Given the description of an element on the screen output the (x, y) to click on. 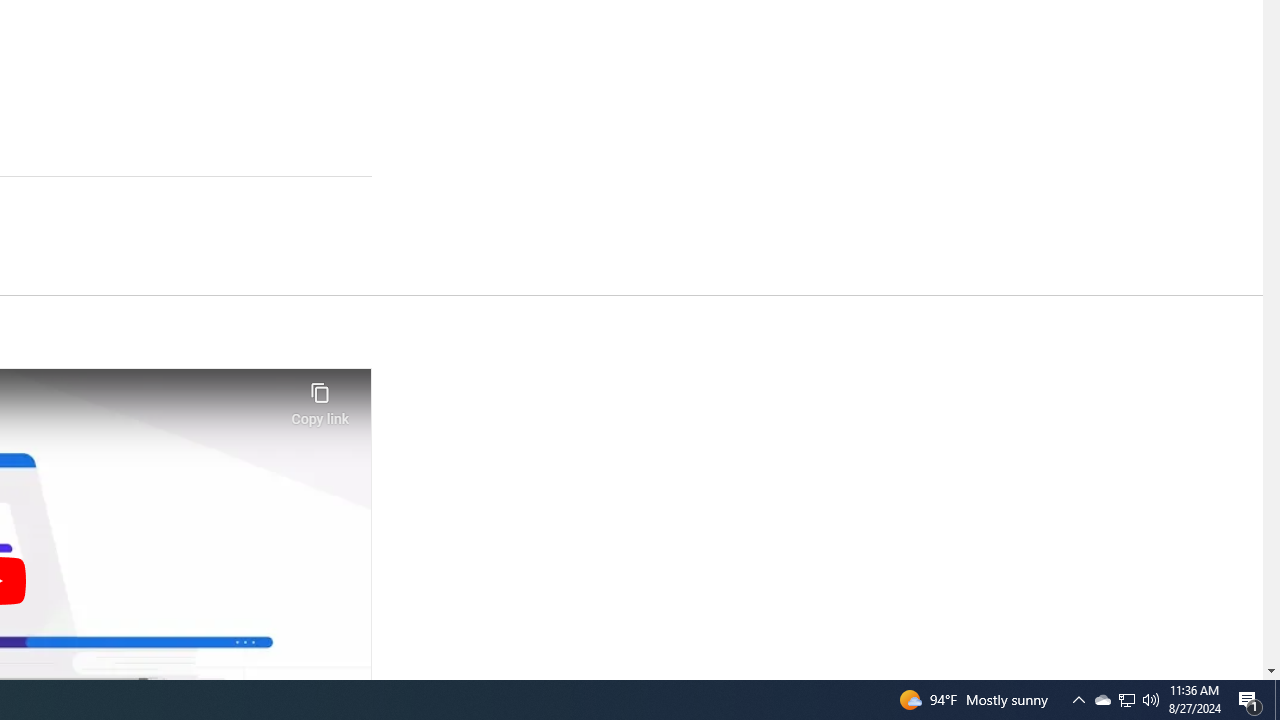
Copy link (319, 398)
